Given the description of an element on the screen output the (x, y) to click on. 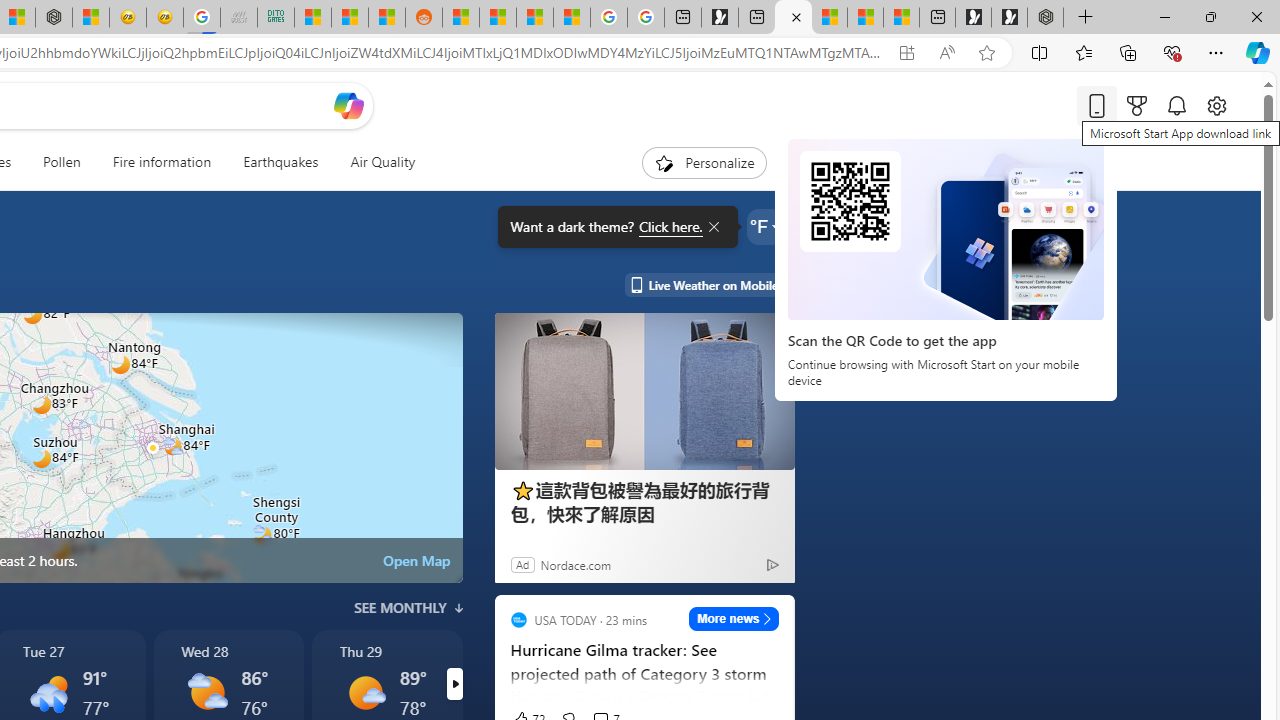
Pollen (61, 162)
App available. Install Microsoft Start Weather (906, 53)
Fire information (161, 162)
Open settings (1216, 105)
Switch right (454, 683)
Pollen (61, 162)
